Given the description of an element on the screen output the (x, y) to click on. 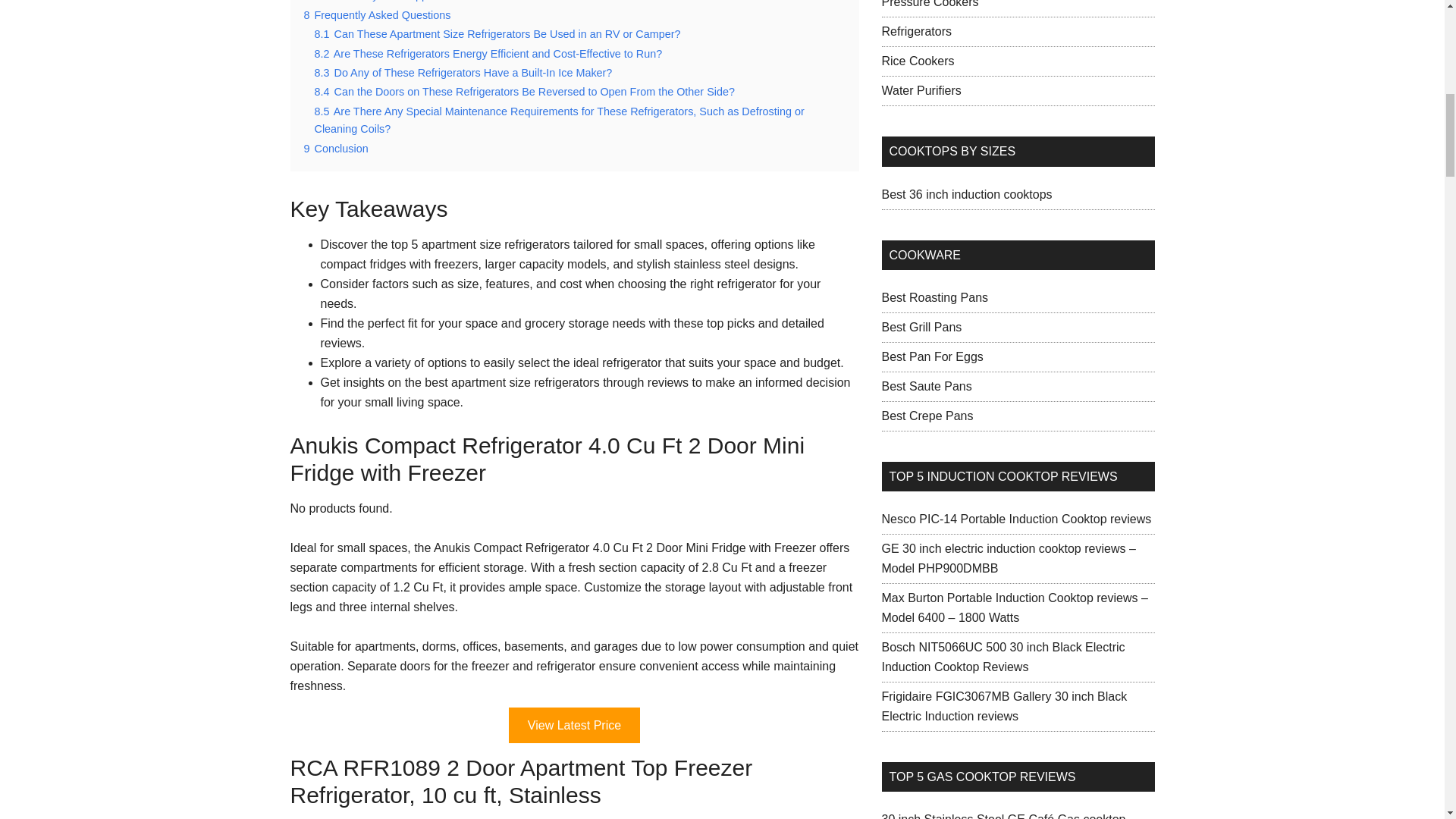
8 Frequently Asked Questions (375, 15)
View Latest Price (574, 724)
9 Conclusion (335, 148)
7.7 Warranty and Support (376, 0)
8.3 Do Any of These Refrigerators Have a Built-In Ice Maker? (462, 72)
